Given the description of an element on the screen output the (x, y) to click on. 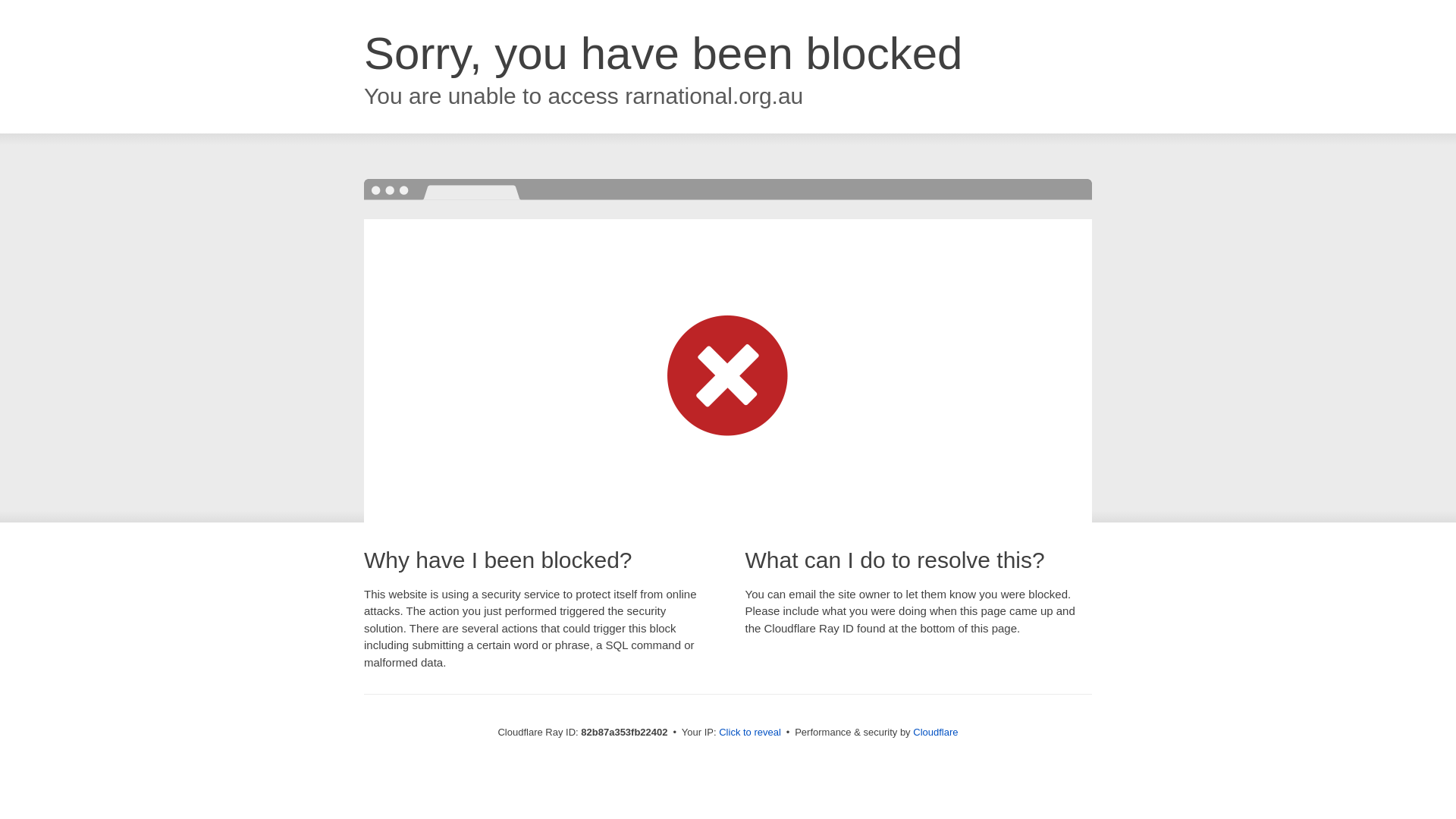
Click to reveal Element type: text (749, 732)
Cloudflare Element type: text (935, 731)
